Given the description of an element on the screen output the (x, y) to click on. 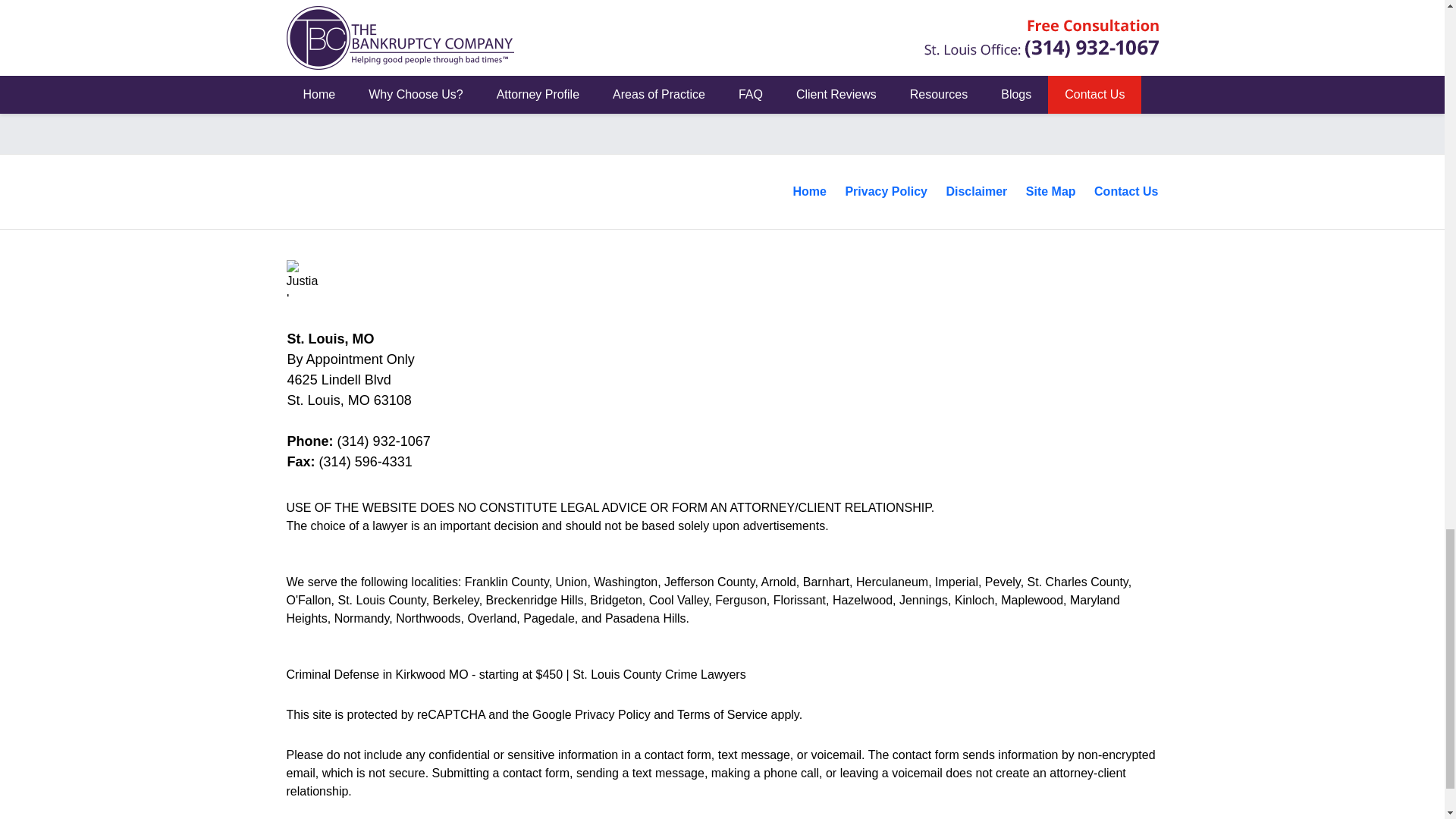
Privacy Policy (885, 191)
Submit a Law Firm Client Review (722, 71)
Disclaimer (975, 191)
VIEW MORE (721, 19)
Home (810, 191)
Justia (304, 278)
